Given the description of an element on the screen output the (x, y) to click on. 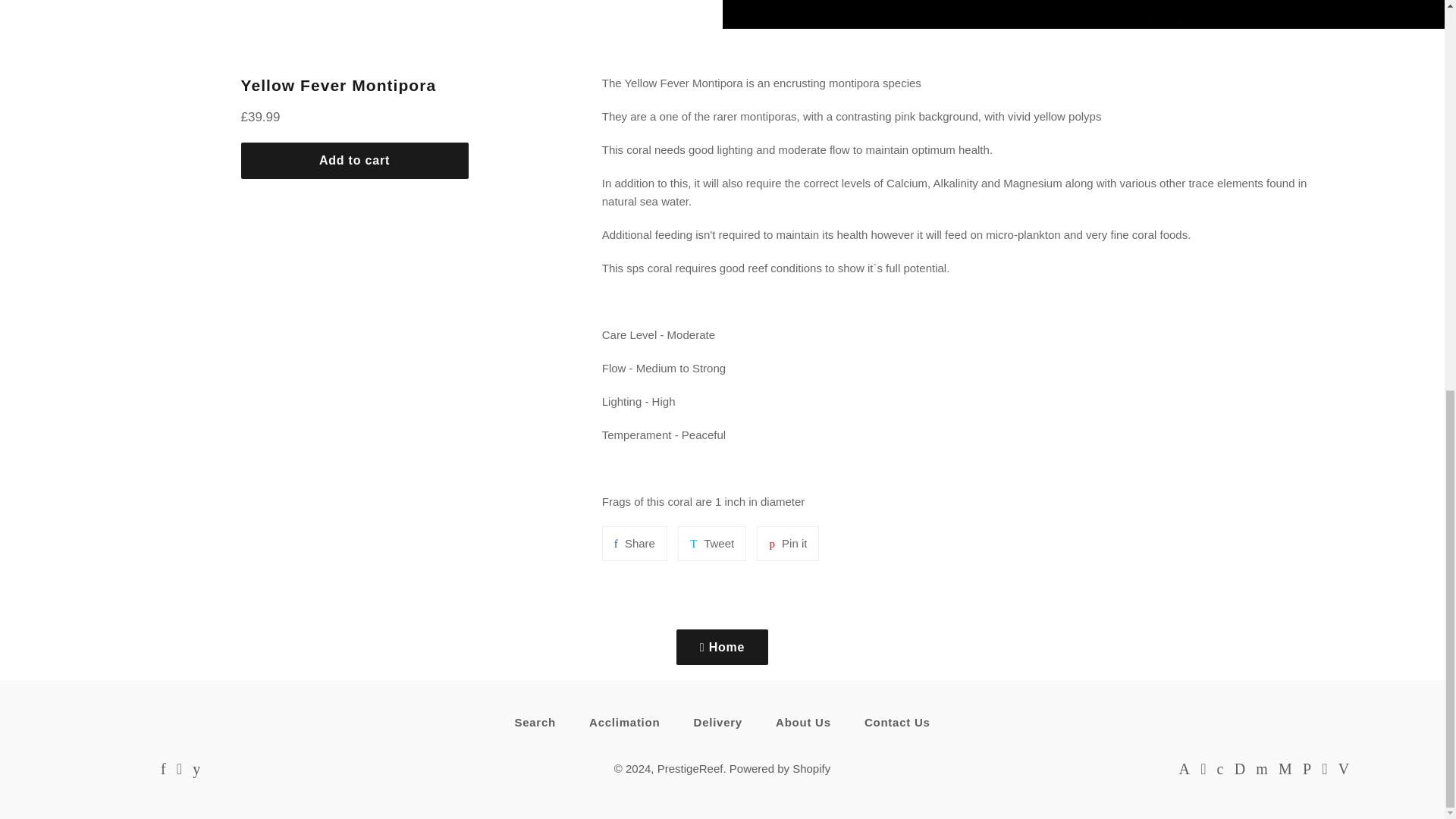
Pin on Pinterest (787, 543)
Tweet on Twitter (711, 543)
Share on Facebook (634, 543)
